Given the description of an element on the screen output the (x, y) to click on. 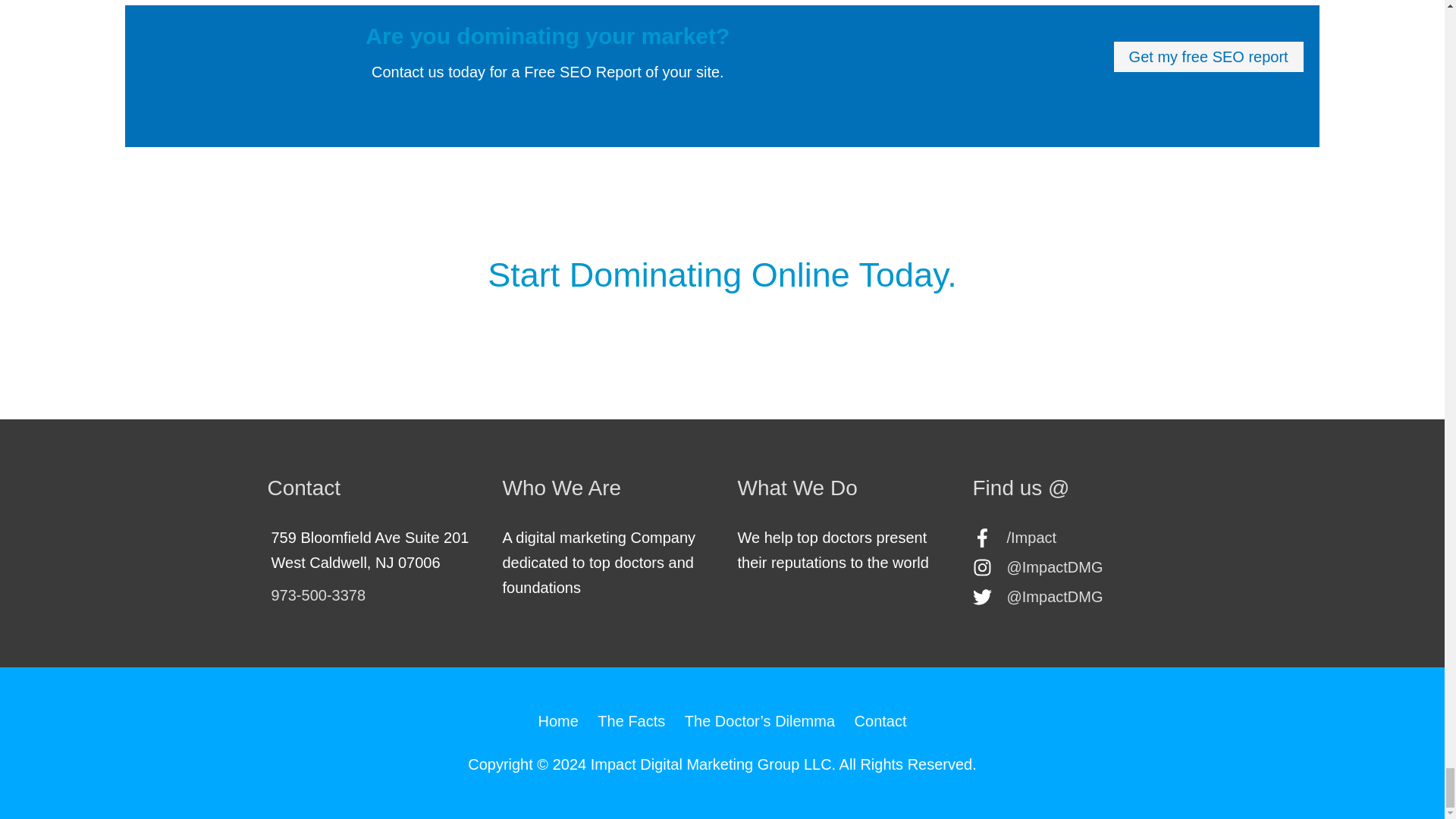
Contact (877, 720)
Home (561, 720)
Get my free SEO report (1208, 56)
973-500-3378 (318, 595)
The Facts (630, 720)
